Given the description of an element on the screen output the (x, y) to click on. 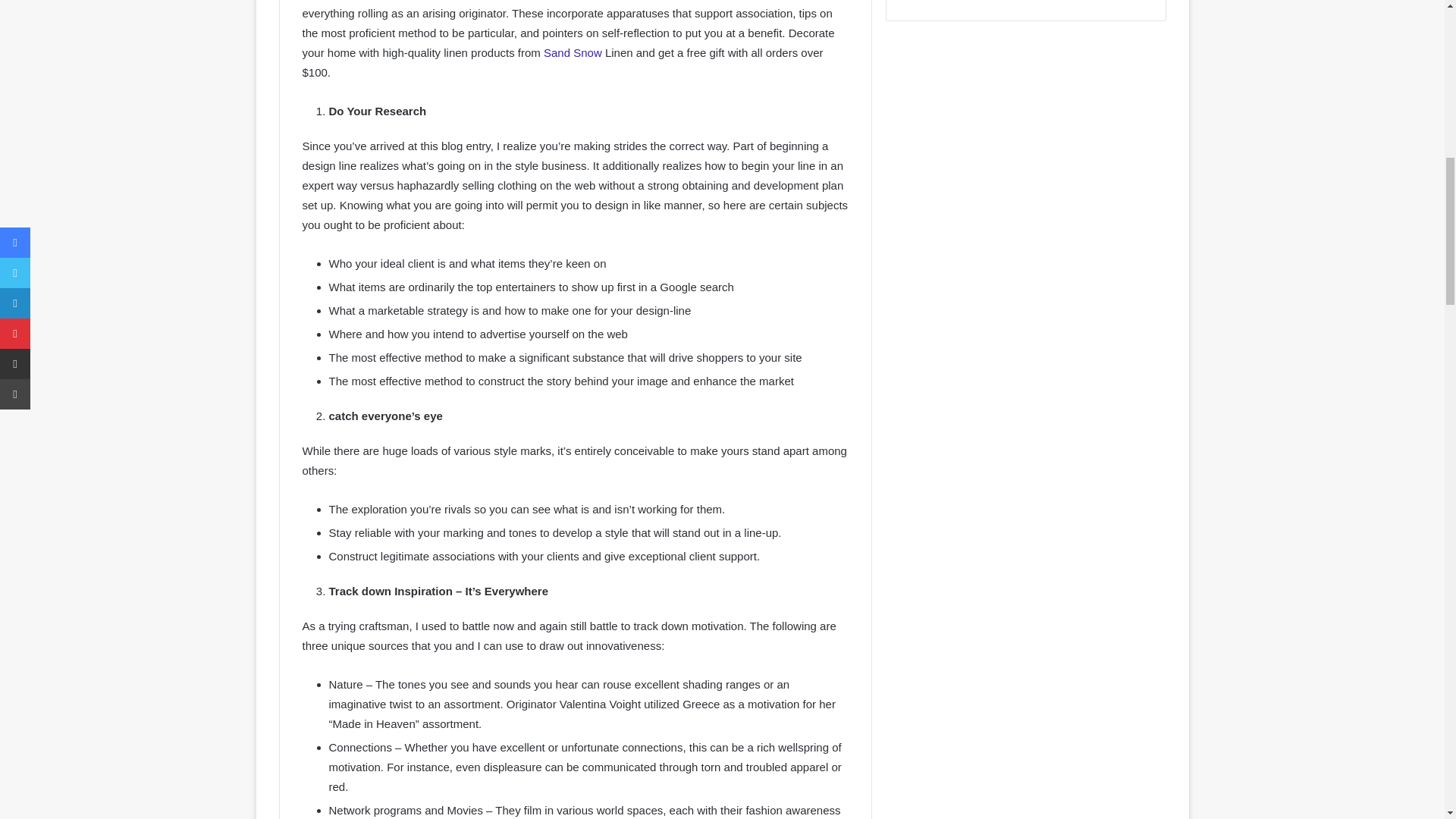
Sand Snow (571, 51)
